Given the description of an element on the screen output the (x, y) to click on. 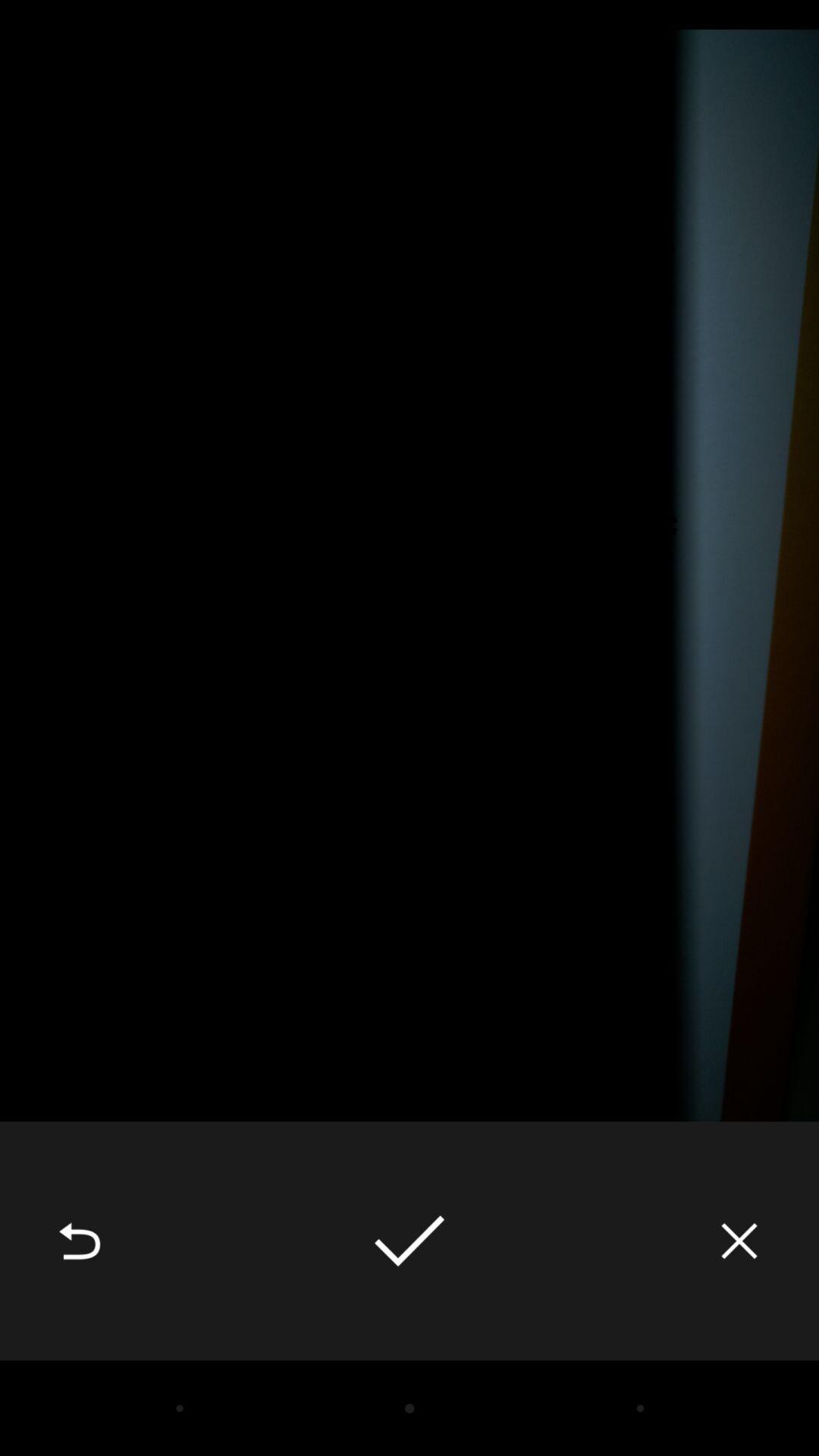
press the icon at the bottom right corner (739, 1240)
